Given the description of an element on the screen output the (x, y) to click on. 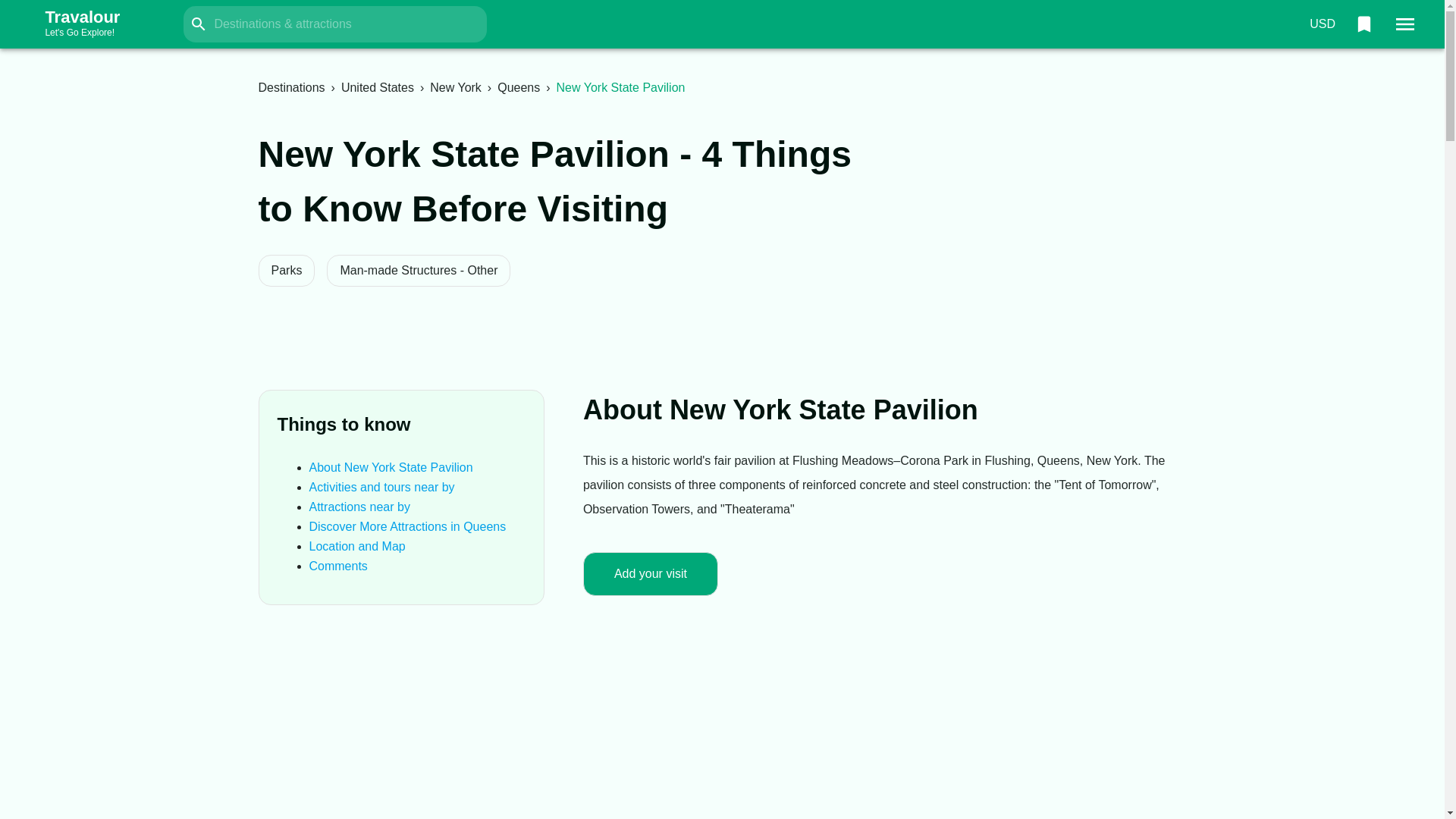
New York (455, 87)
Location and Map (357, 545)
Destinations (290, 87)
United States (376, 87)
0 (1363, 24)
About New York State Pavilion (390, 467)
Discover More Attractions in Queens (407, 526)
Queens (518, 87)
Attractions near by (359, 506)
Add your visit (650, 573)
